Given the description of an element on the screen output the (x, y) to click on. 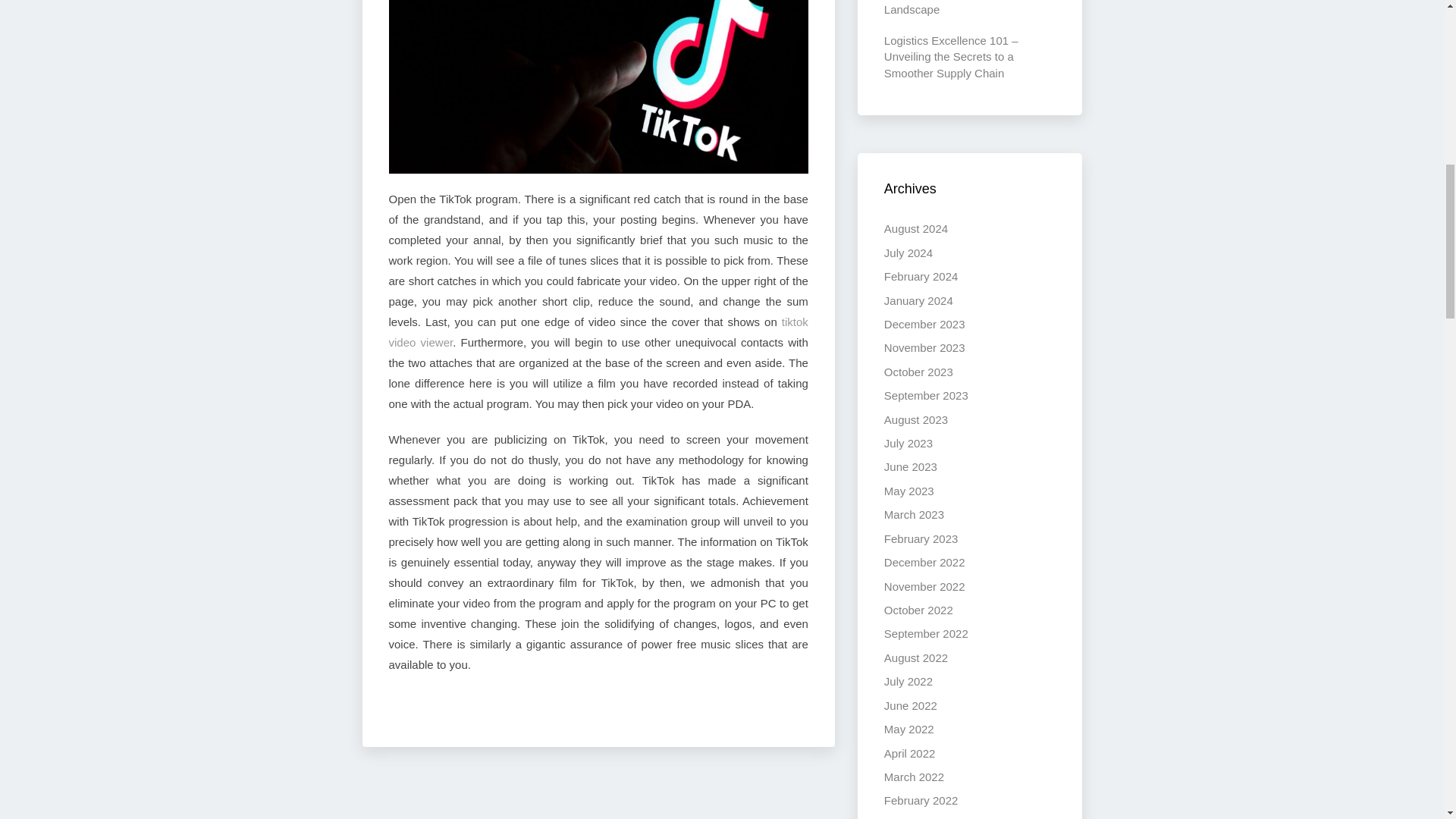
December 2022 (924, 562)
January 2022 (918, 818)
October 2023 (918, 371)
July 2022 (908, 680)
September 2023 (925, 395)
January 2024 (918, 300)
June 2022 (910, 705)
October 2022 (918, 609)
May 2022 (908, 728)
November 2023 (924, 347)
